Given the description of an element on the screen output the (x, y) to click on. 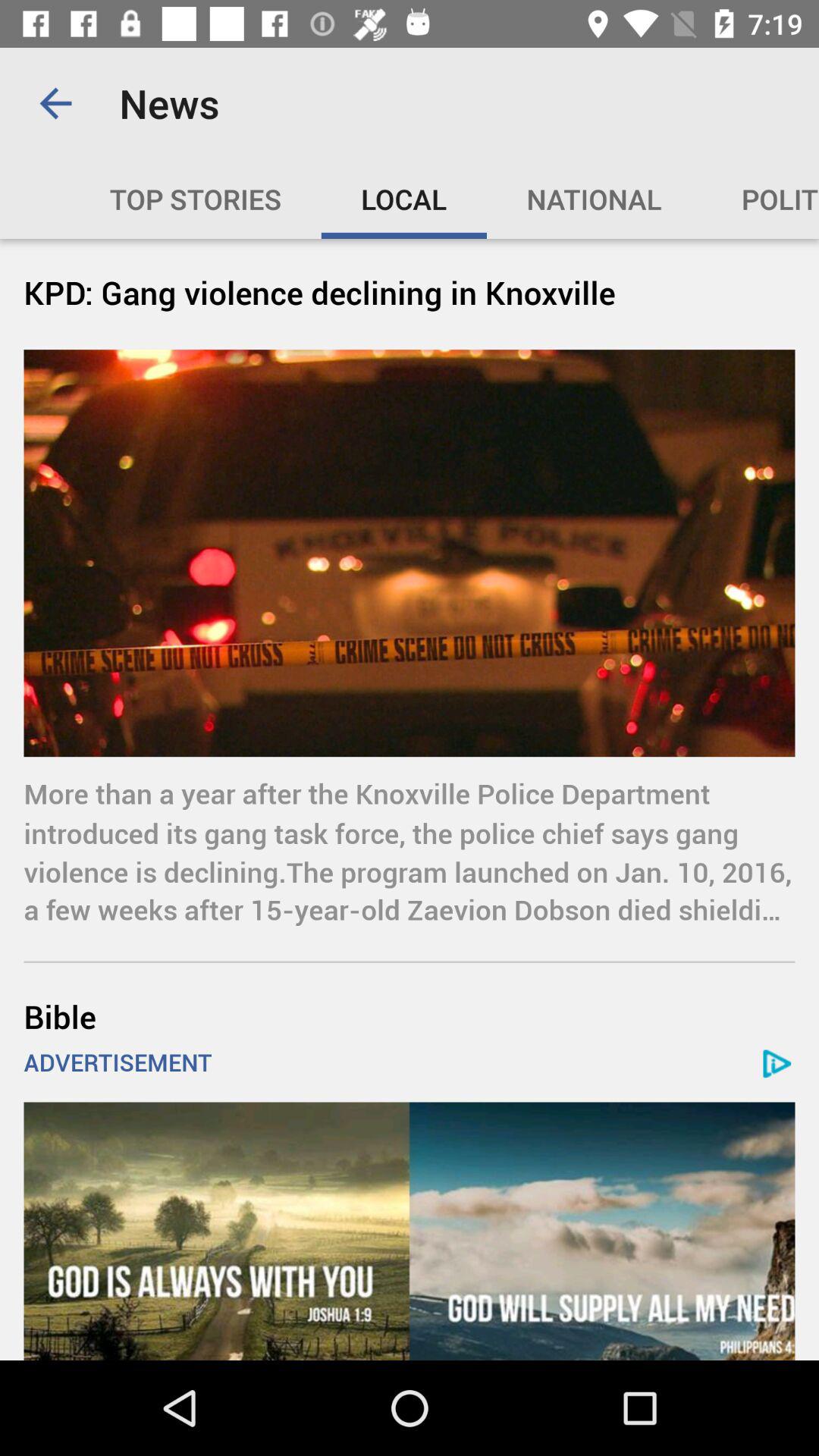
select icon above advertisement icon (409, 1015)
